Given the description of an element on the screen output the (x, y) to click on. 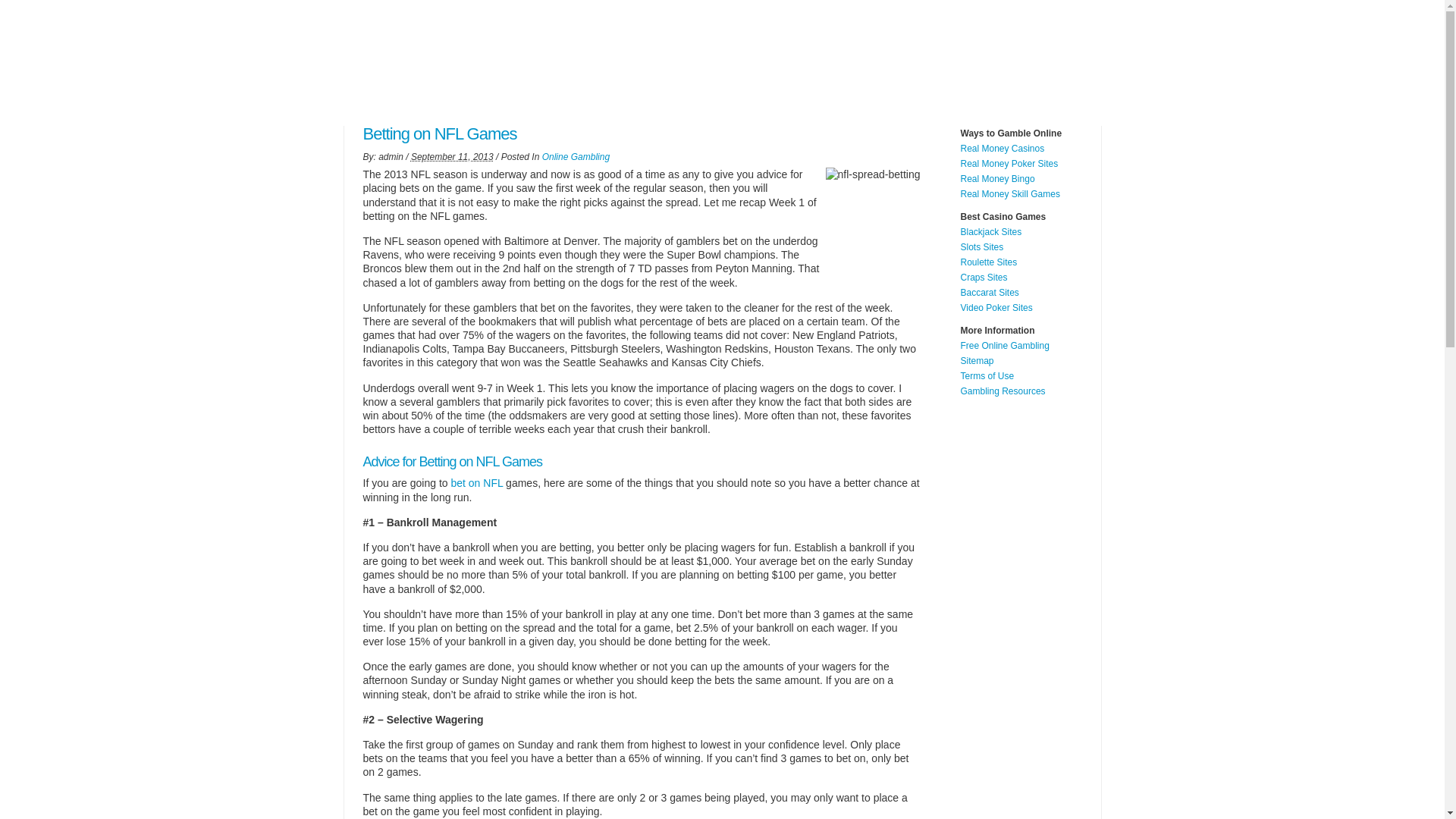
Betting on NFL Games (869, 214)
Sitemap (975, 360)
Real Money Skill Games (1009, 194)
Gambling Resources (1002, 390)
Slots Sites (981, 246)
Real Money Poker Sites (1008, 163)
Real Money Bingo (996, 178)
Home (365, 104)
Wednesday, September 11th, 2013, 8:28 pm (451, 156)
Free Online Gambling (1003, 345)
Terms of Use (986, 376)
Craps Sites (983, 276)
bet on NFL (475, 482)
Roulette Sites (987, 262)
Top Gambling Sites (565, 104)
